Given the description of an element on the screen output the (x, y) to click on. 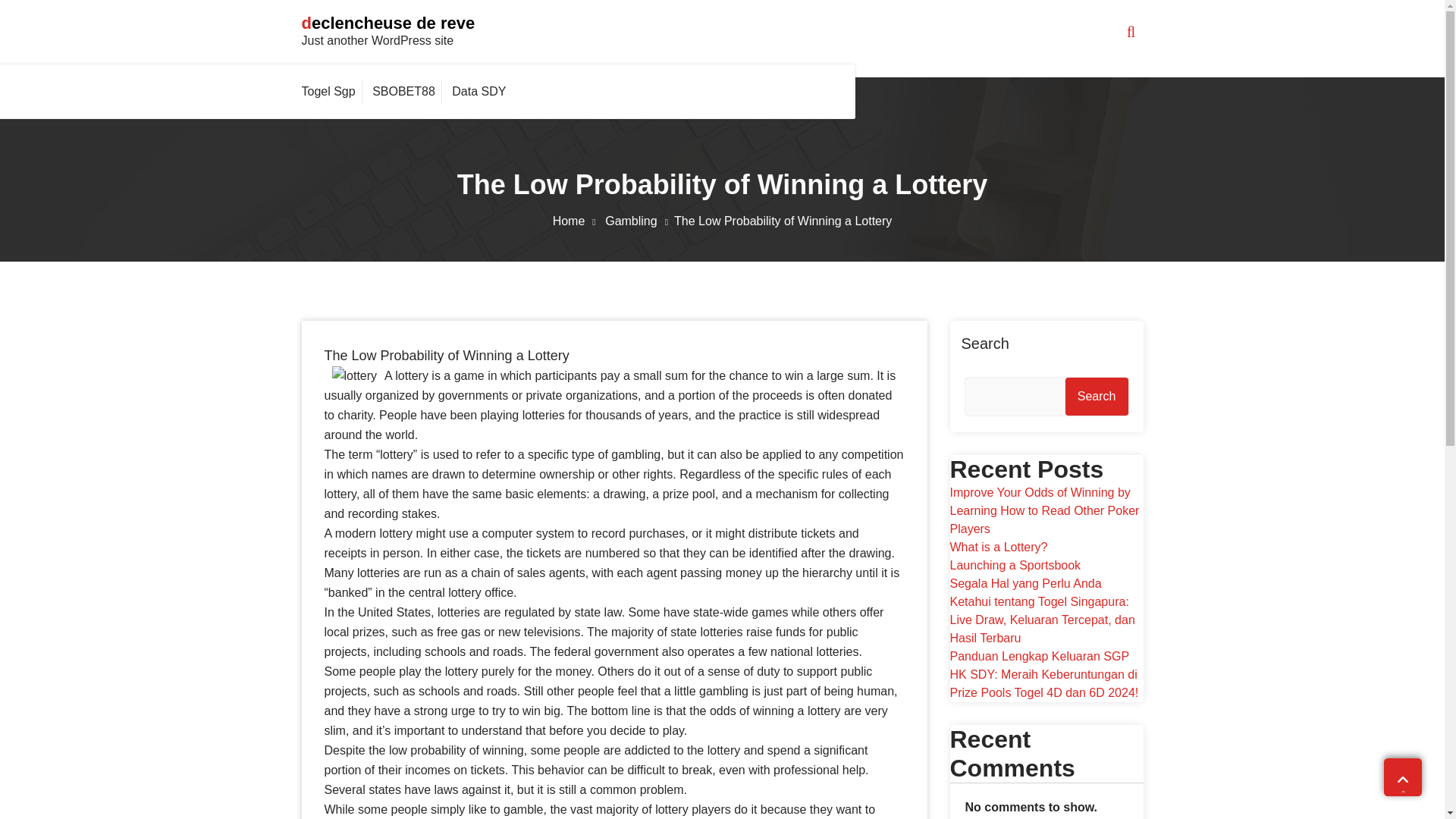
Home (577, 220)
Togel Sgp (331, 91)
declencheuse de reve (388, 23)
What is a Lottery? (997, 546)
Search (1096, 396)
SBOBET88 (403, 91)
Togel Sgp (331, 91)
SBOBET88 (403, 91)
